Given the description of an element on the screen output the (x, y) to click on. 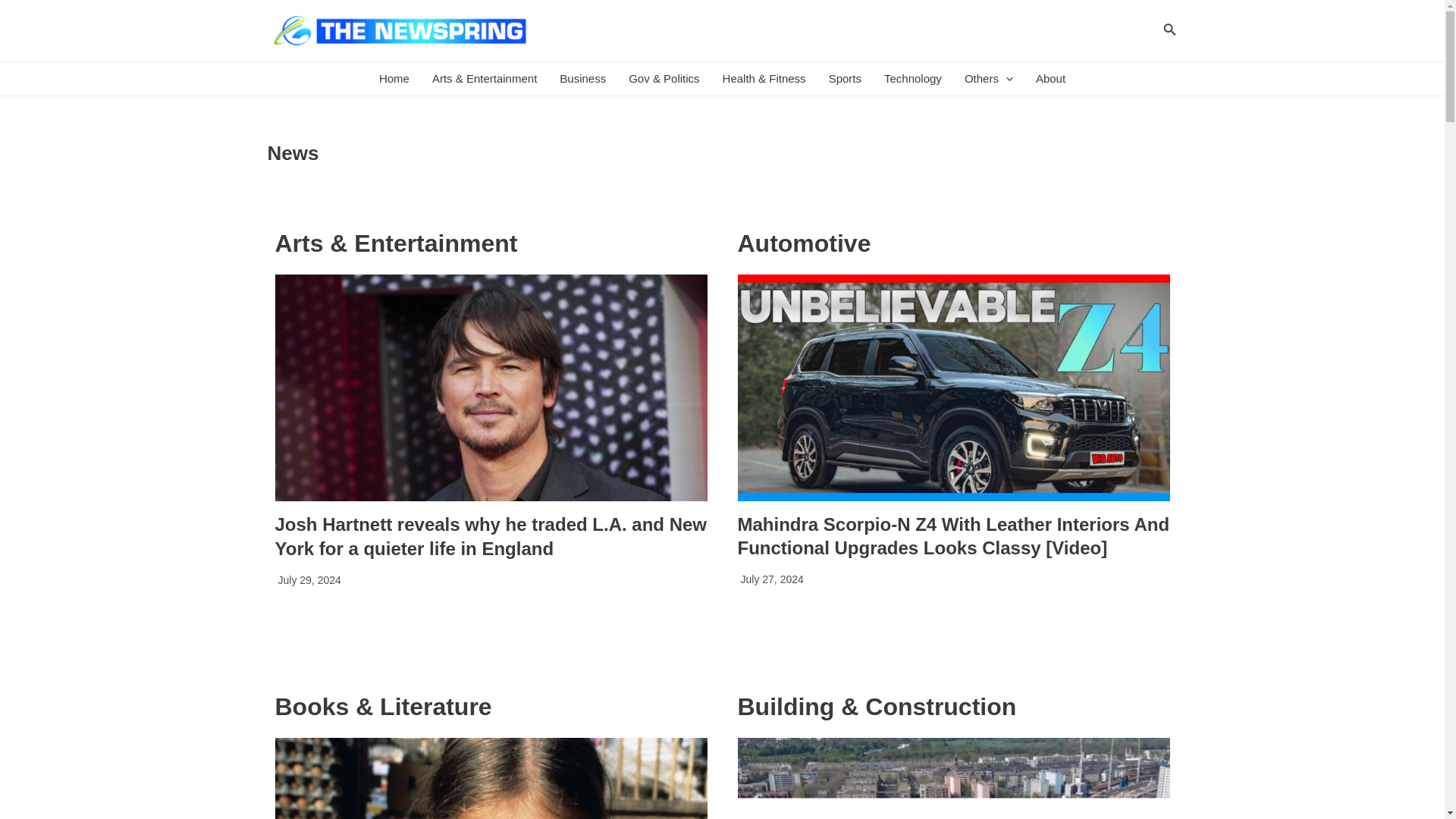
Business (582, 78)
About (1051, 78)
Home (394, 78)
Technology (912, 78)
Sports (844, 78)
Others (989, 78)
